Given the description of an element on the screen output the (x, y) to click on. 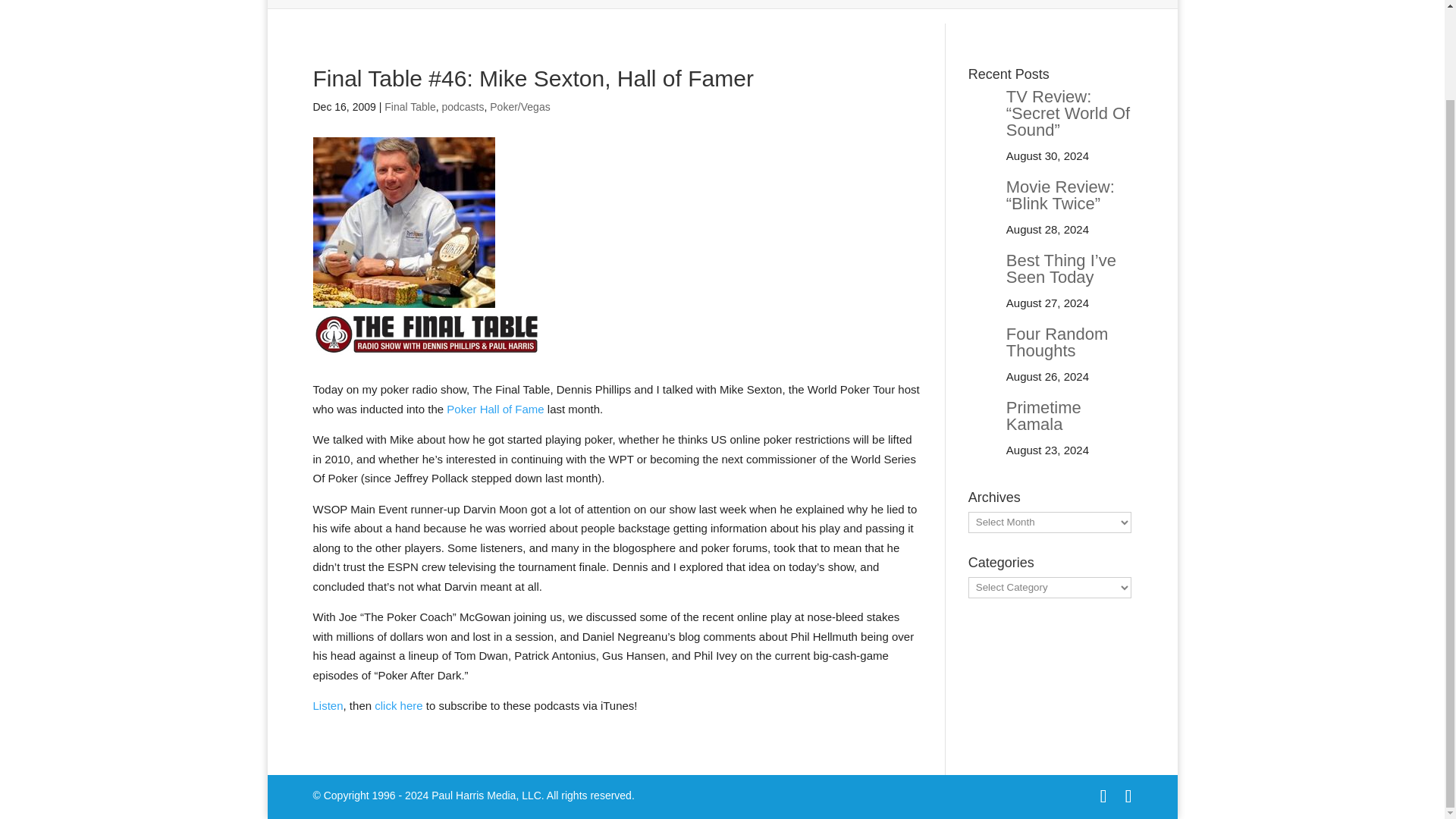
click here (398, 705)
Science (1010, 0)
Four Random Thoughts (1057, 342)
